Given the description of an element on the screen output the (x, y) to click on. 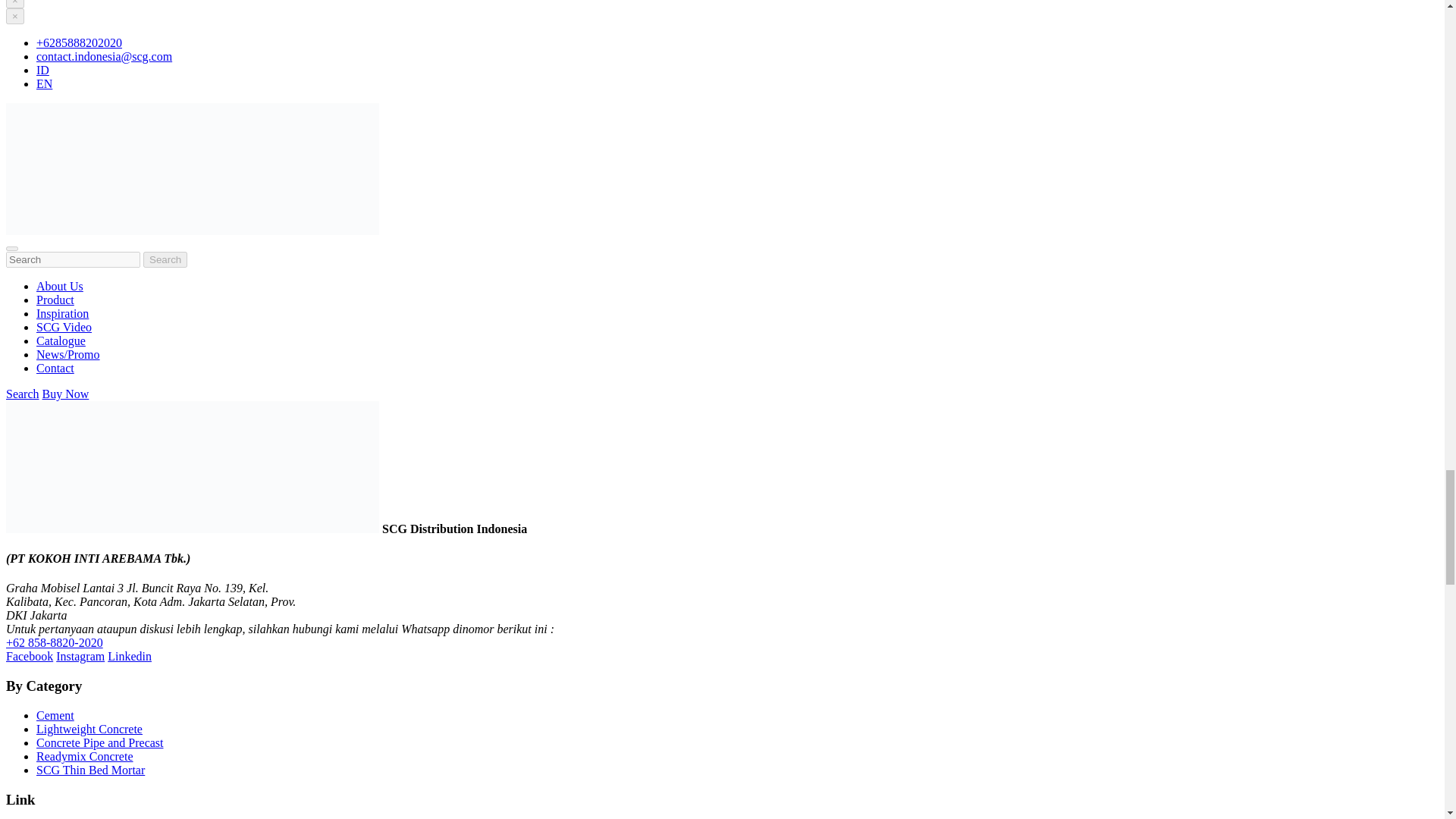
EN (44, 83)
Product (55, 299)
ID (42, 69)
Concrete Pipe and Precast (99, 742)
Inspiration (62, 313)
Search (22, 393)
Product (55, 299)
Inspiration (62, 313)
Buy Now (65, 393)
SCG CBM INDONESIA (191, 230)
